Given the description of an element on the screen output the (x, y) to click on. 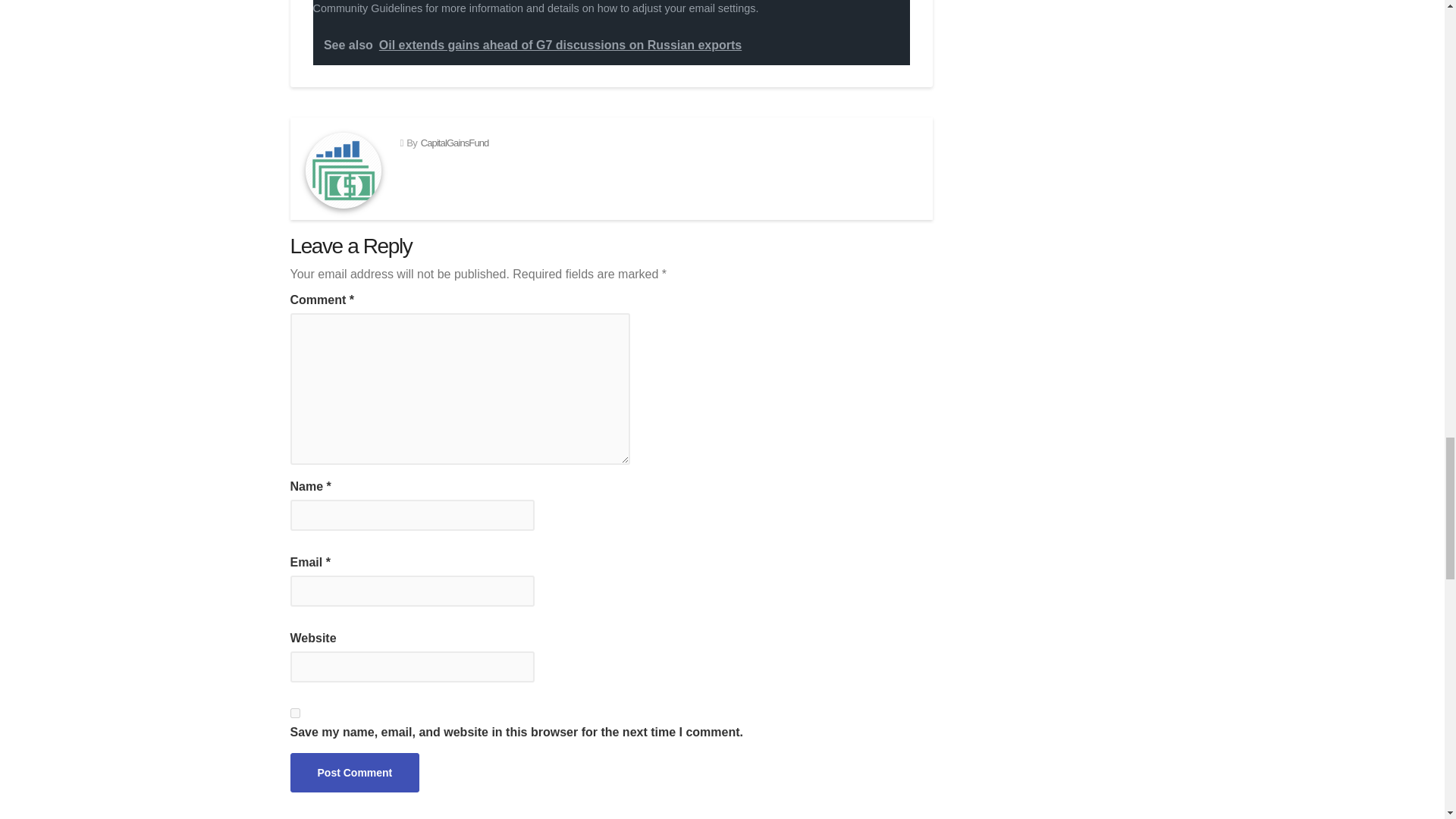
CapitalGainsFund (454, 142)
Post Comment (354, 772)
email settings (721, 8)
Post Comment (354, 772)
Community Guidelines (367, 8)
yes (294, 713)
